Given the description of an element on the screen output the (x, y) to click on. 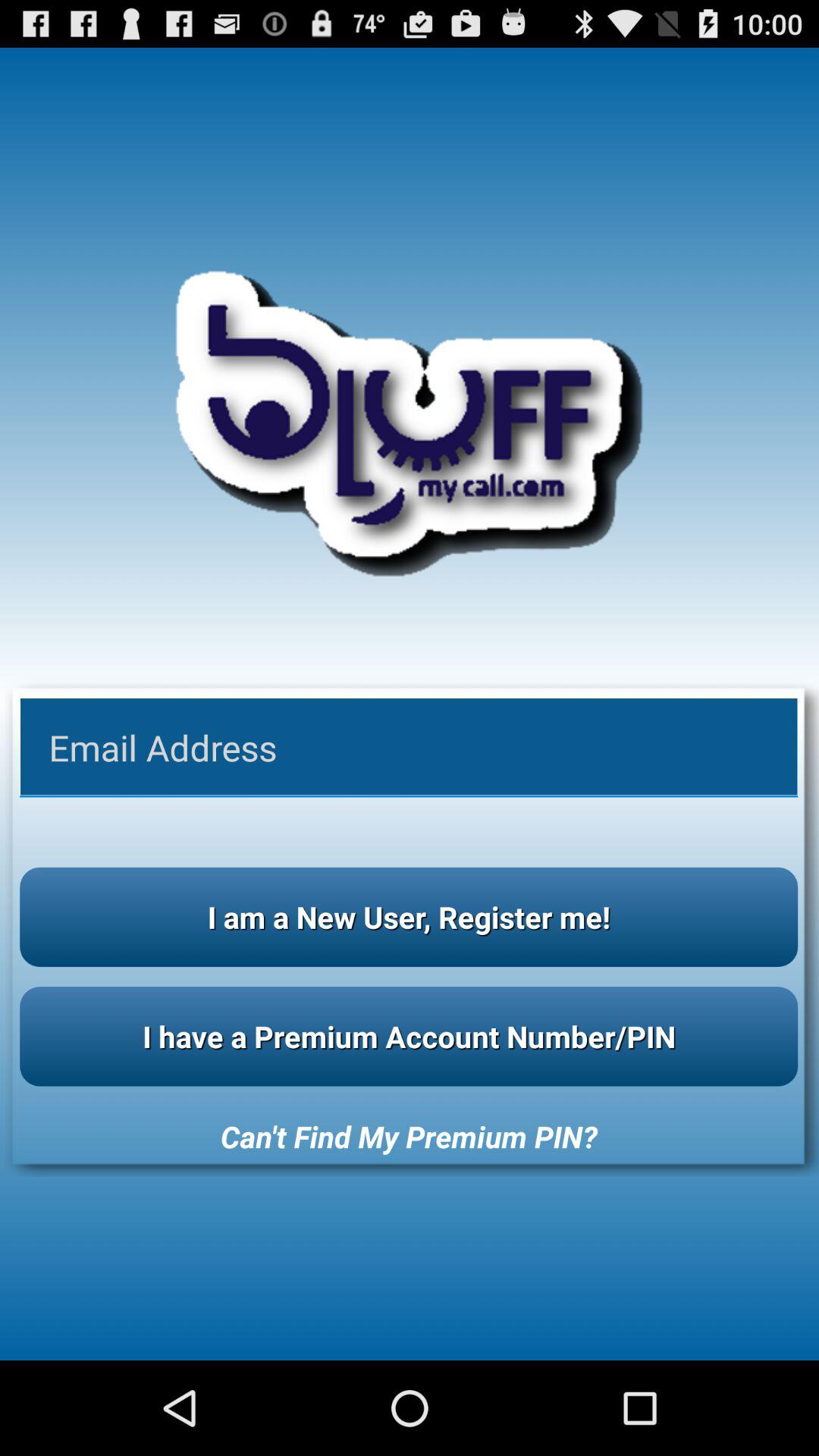
open can t find icon (408, 1136)
